Given the description of an element on the screen output the (x, y) to click on. 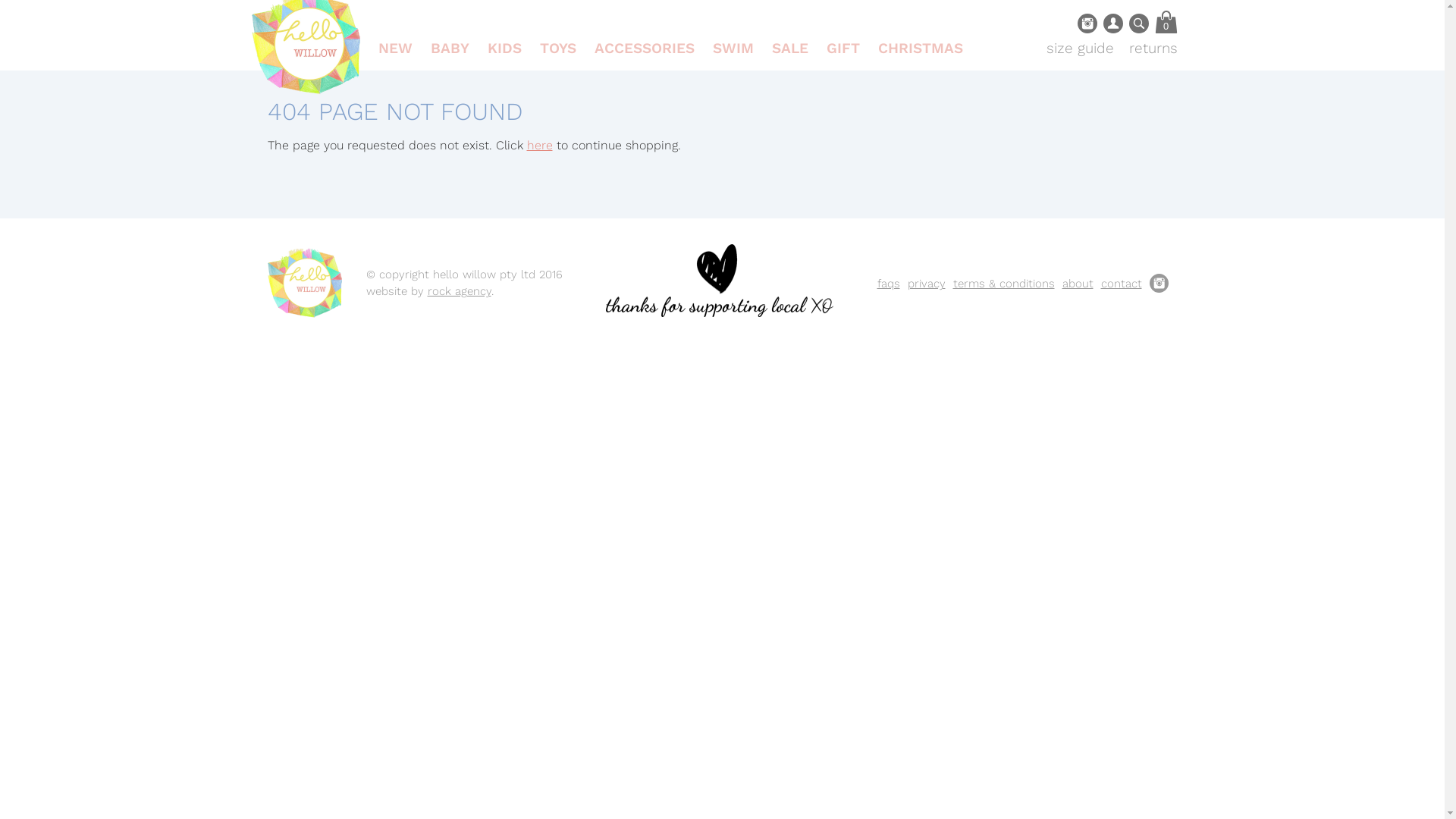
0
Cart ( items ) Element type: text (1165, 21)
faqs Element type: text (887, 283)
rock agency Element type: text (459, 291)
returns Element type: text (1152, 47)
contact Element type: text (1121, 283)
CHRISTMAS Element type: text (920, 48)
SALE Element type: text (789, 48)
privacy Element type: text (925, 283)
GIFT Element type: text (842, 48)
Search Element type: text (1138, 23)
size guide Element type: text (1079, 47)
about Element type: text (1076, 283)
TOYS Element type: text (557, 48)
NEW Element type: text (394, 48)
terms & conditions Element type: text (1003, 283)
Instagram Element type: text (1086, 23)
KIDS Element type: text (503, 48)
SWIM Element type: text (732, 48)
here Element type: text (539, 145)
ACCESSORIES Element type: text (644, 48)
BABY Element type: text (449, 48)
